Given the description of an element on the screen output the (x, y) to click on. 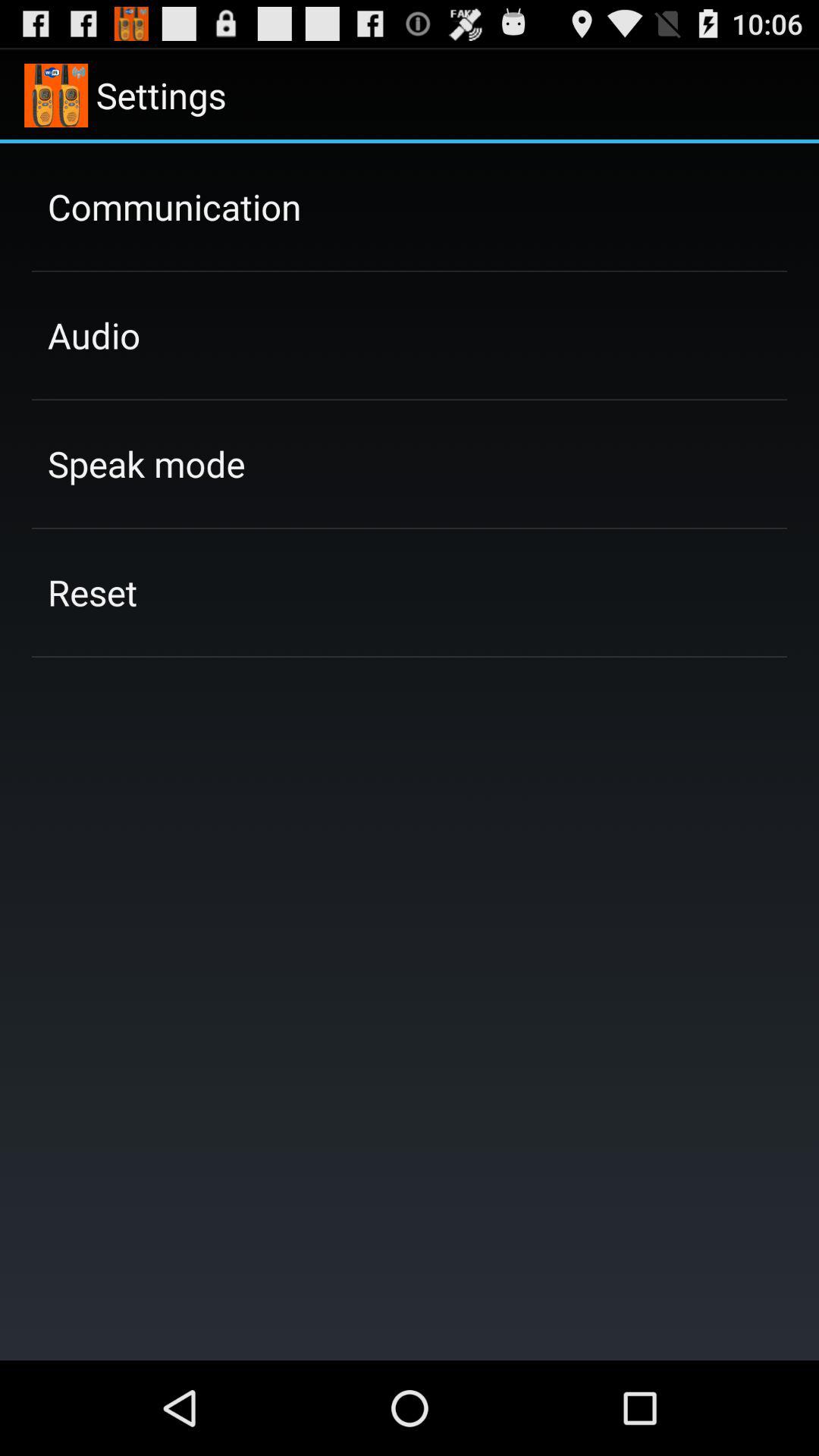
turn on the item on the left (92, 592)
